Given the description of an element on the screen output the (x, y) to click on. 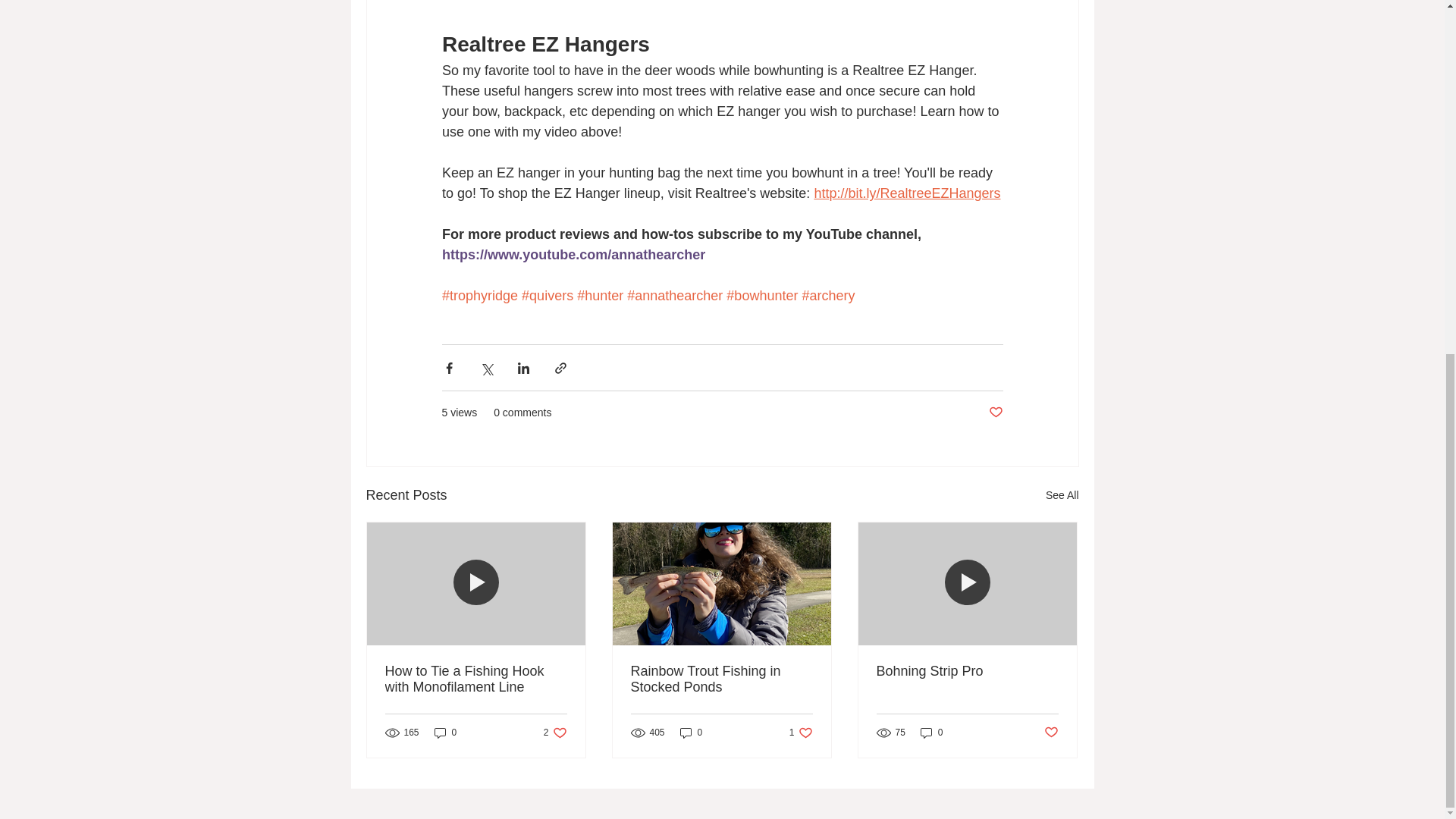
0 (445, 732)
Rainbow Trout Fishing in Stocked Ponds (721, 679)
0 (691, 732)
See All (1061, 495)
How to Tie a Fishing Hook with Monofilament Line (476, 679)
Post not marked as liked (995, 412)
